Given the description of an element on the screen output the (x, y) to click on. 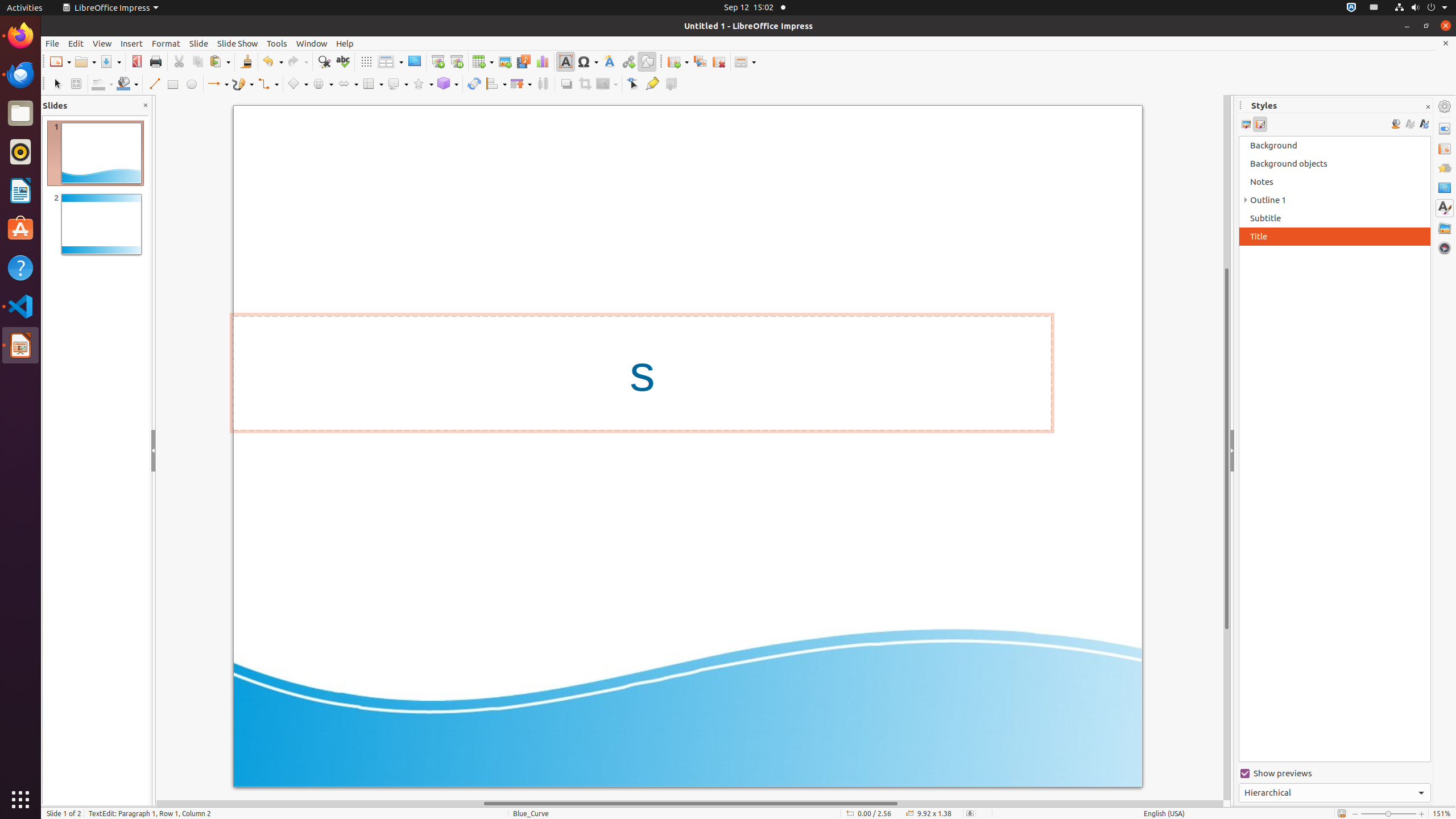
Files Element type: push-button (20, 113)
Save Element type: push-button (109, 61)
:1.72/StatusNotifierItem Element type: menu (1350, 7)
Fill Format Mode Element type: push-button (1395, 123)
Slide Transition Element type: radio-button (1444, 148)
